Given the description of an element on the screen output the (x, y) to click on. 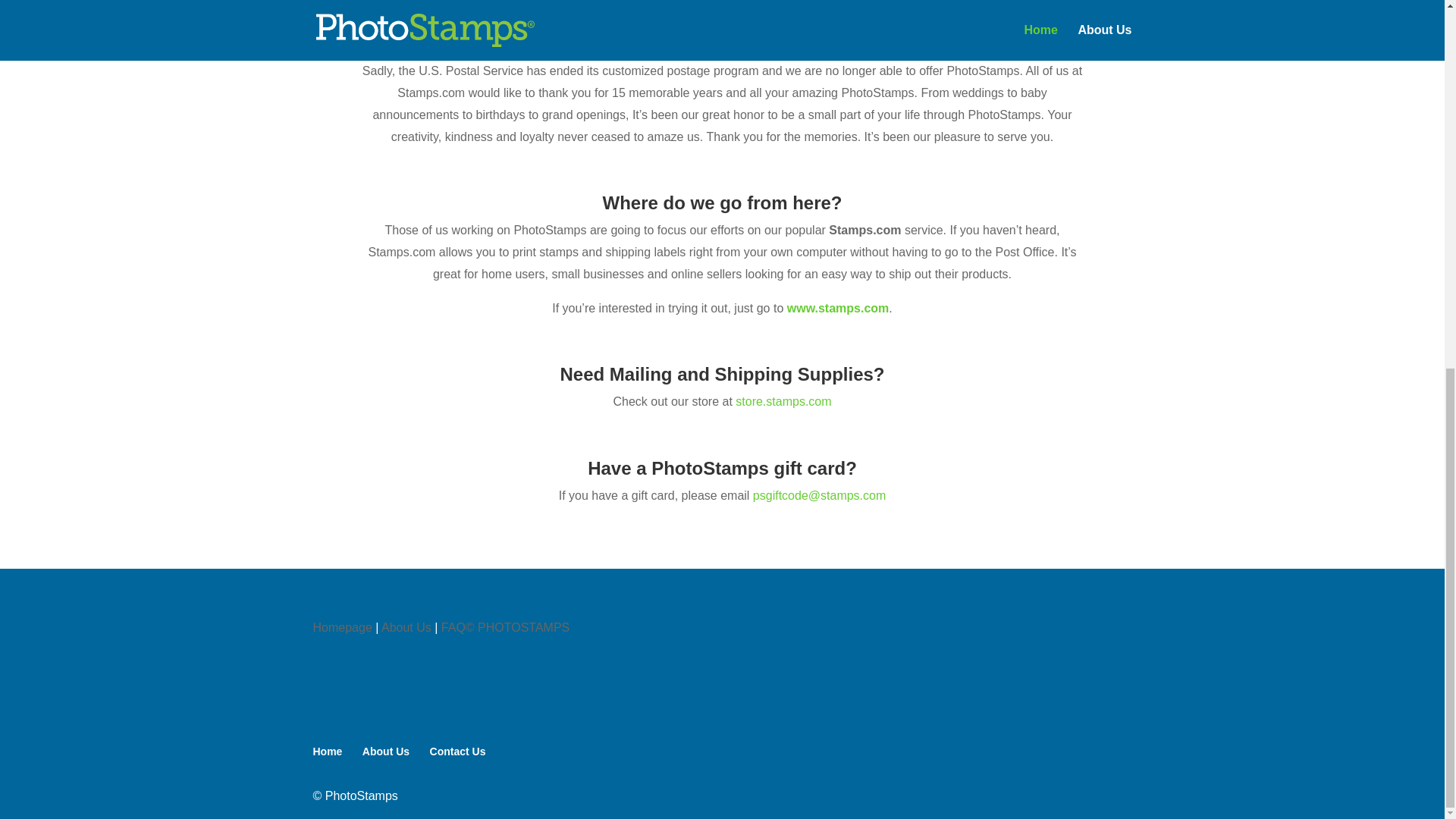
store.stamps.com (783, 400)
About Us (407, 626)
www.stamps.com (838, 308)
About Us (385, 751)
Homepage (342, 626)
FAQ (453, 626)
Contact Us (457, 751)
Home (327, 751)
